Given the description of an element on the screen output the (x, y) to click on. 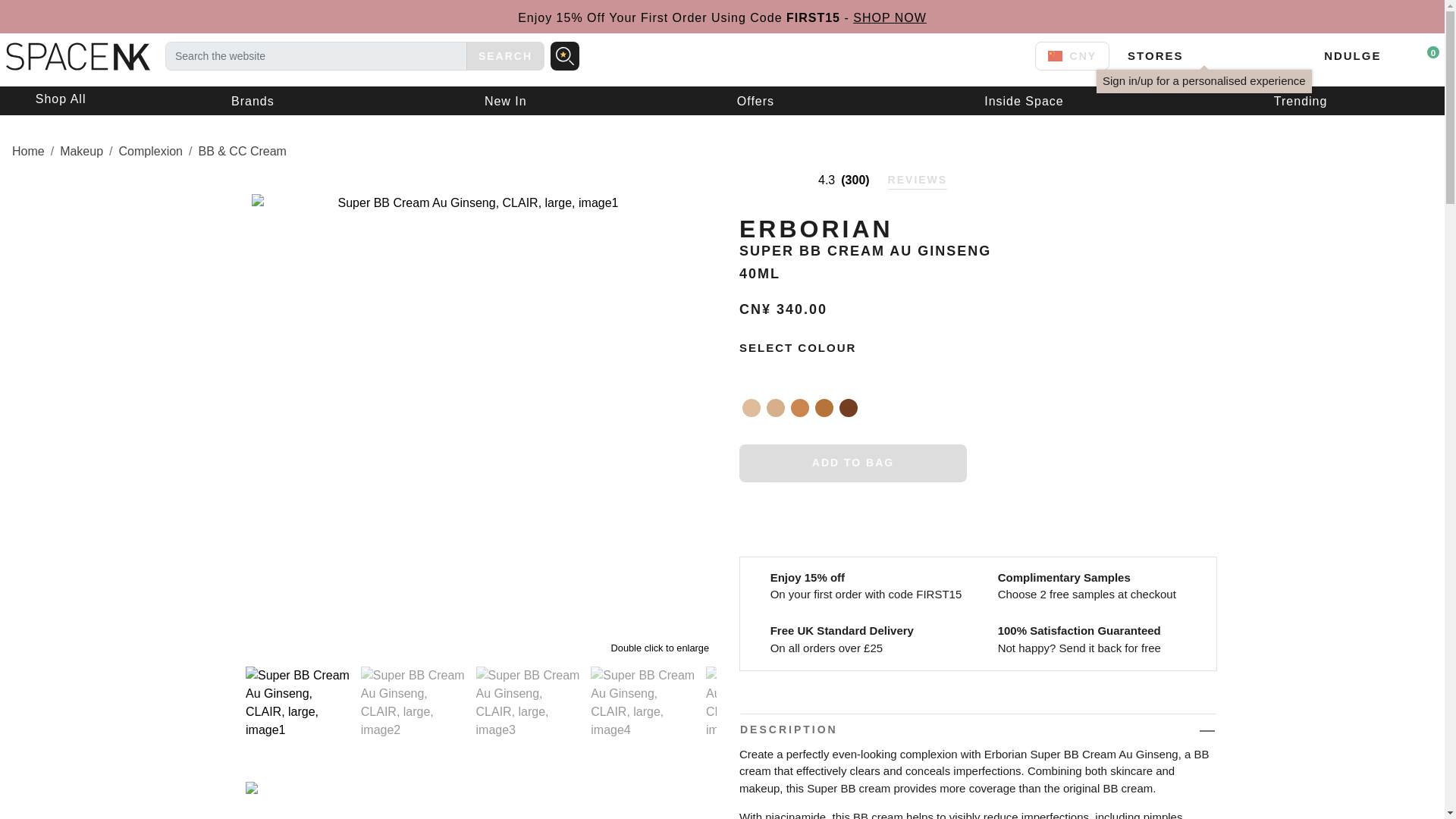
Stores (1154, 54)
SEARCH (504, 55)
CNY (1072, 55)
SHOP NOW (889, 17)
NDULGE (1351, 54)
Space NK Home (74, 54)
Ndulge (1351, 54)
SHOP NOW (889, 17)
STORES (1154, 54)
